Given the description of an element on the screen output the (x, y) to click on. 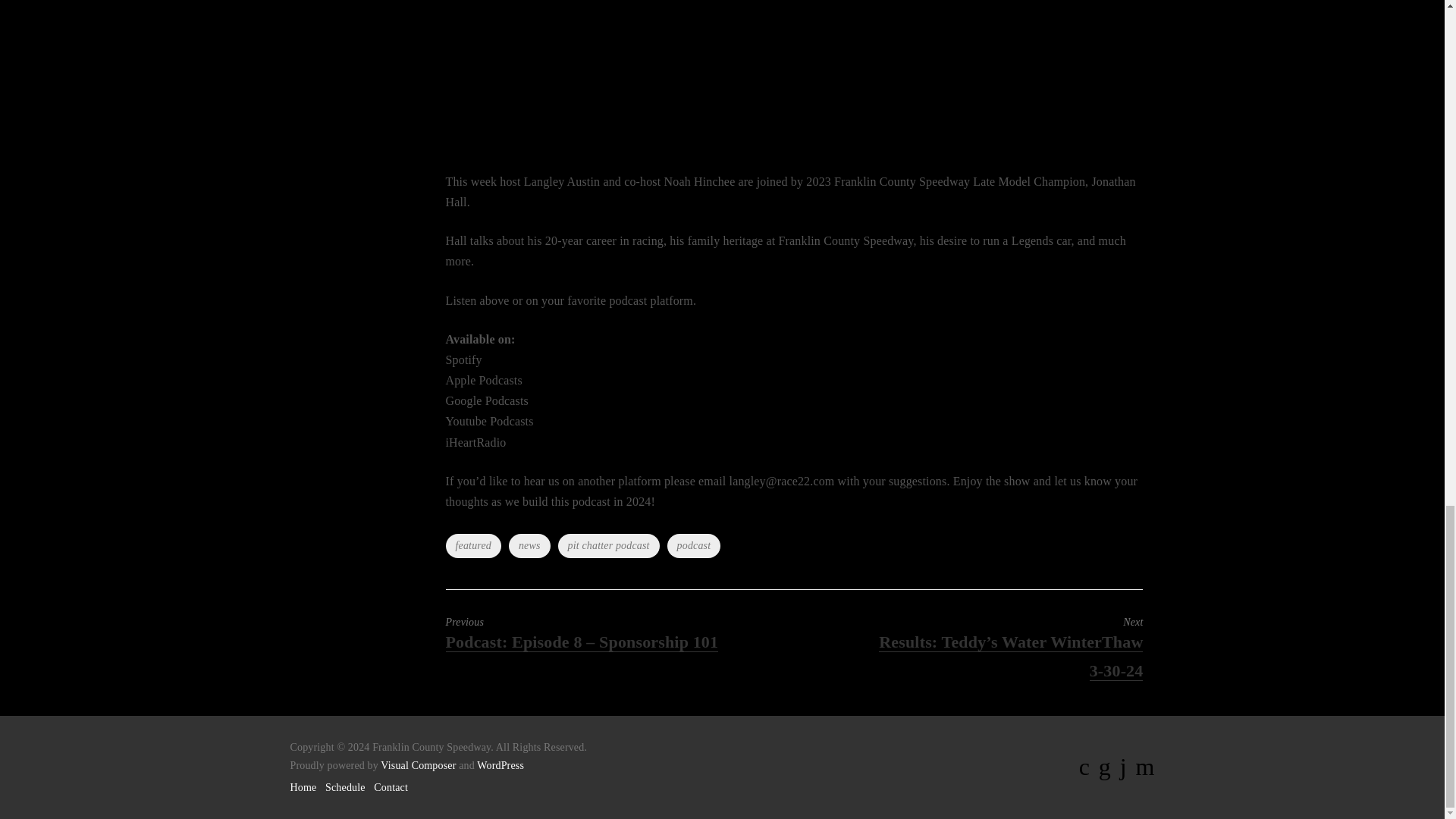
news (529, 545)
Episode 9 - Jonathan Hall (767, 75)
featured (472, 545)
